Given the description of an element on the screen output the (x, y) to click on. 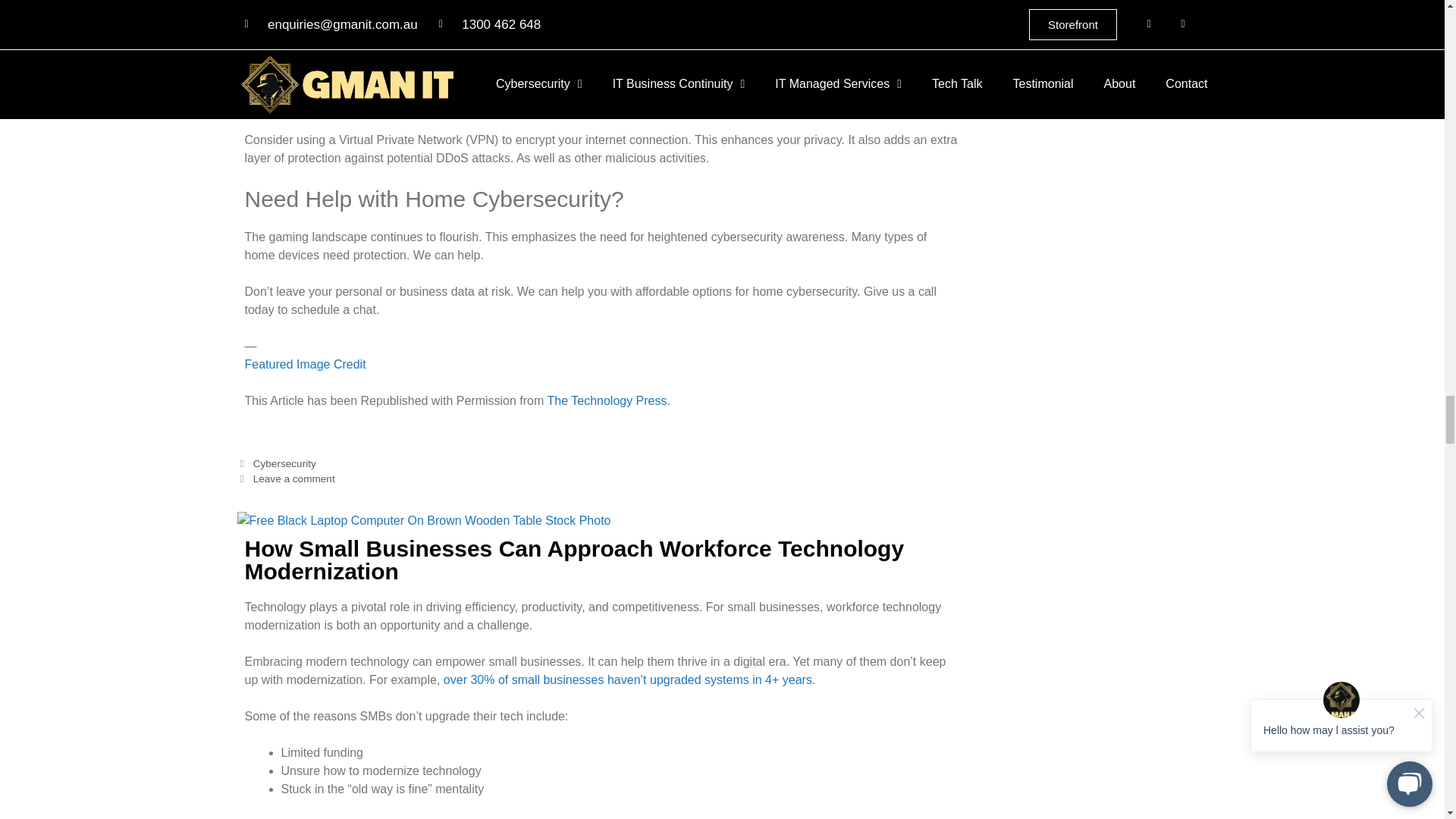
Gamers Beware! Hackers are Targeting You. (608, 400)
